Given the description of an element on the screen output the (x, y) to click on. 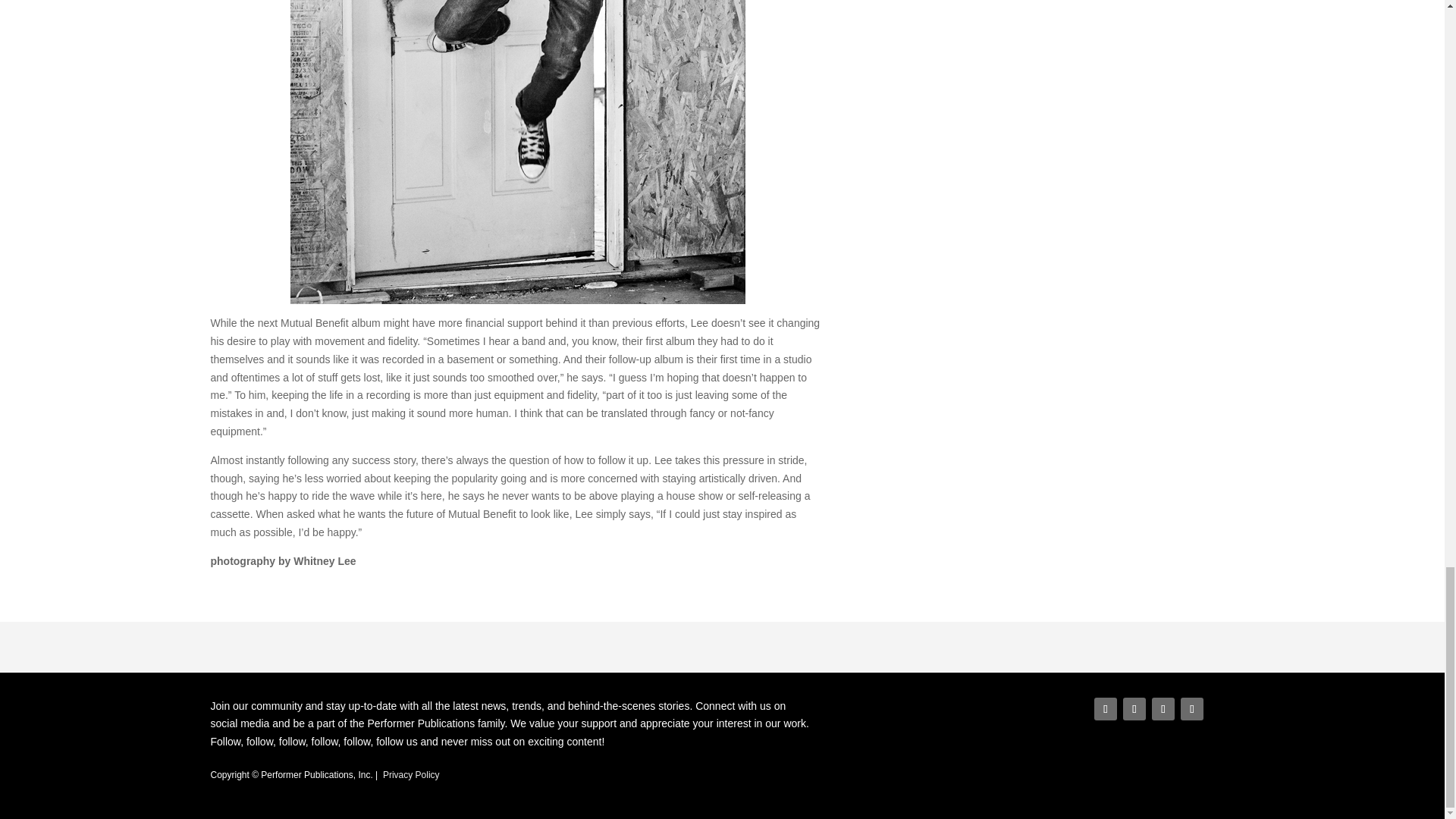
Follow on Instagram (1162, 708)
Follow on X (1133, 708)
Follow on Facebook (1105, 708)
Follow on Youtube (1192, 708)
